Given the description of an element on the screen output the (x, y) to click on. 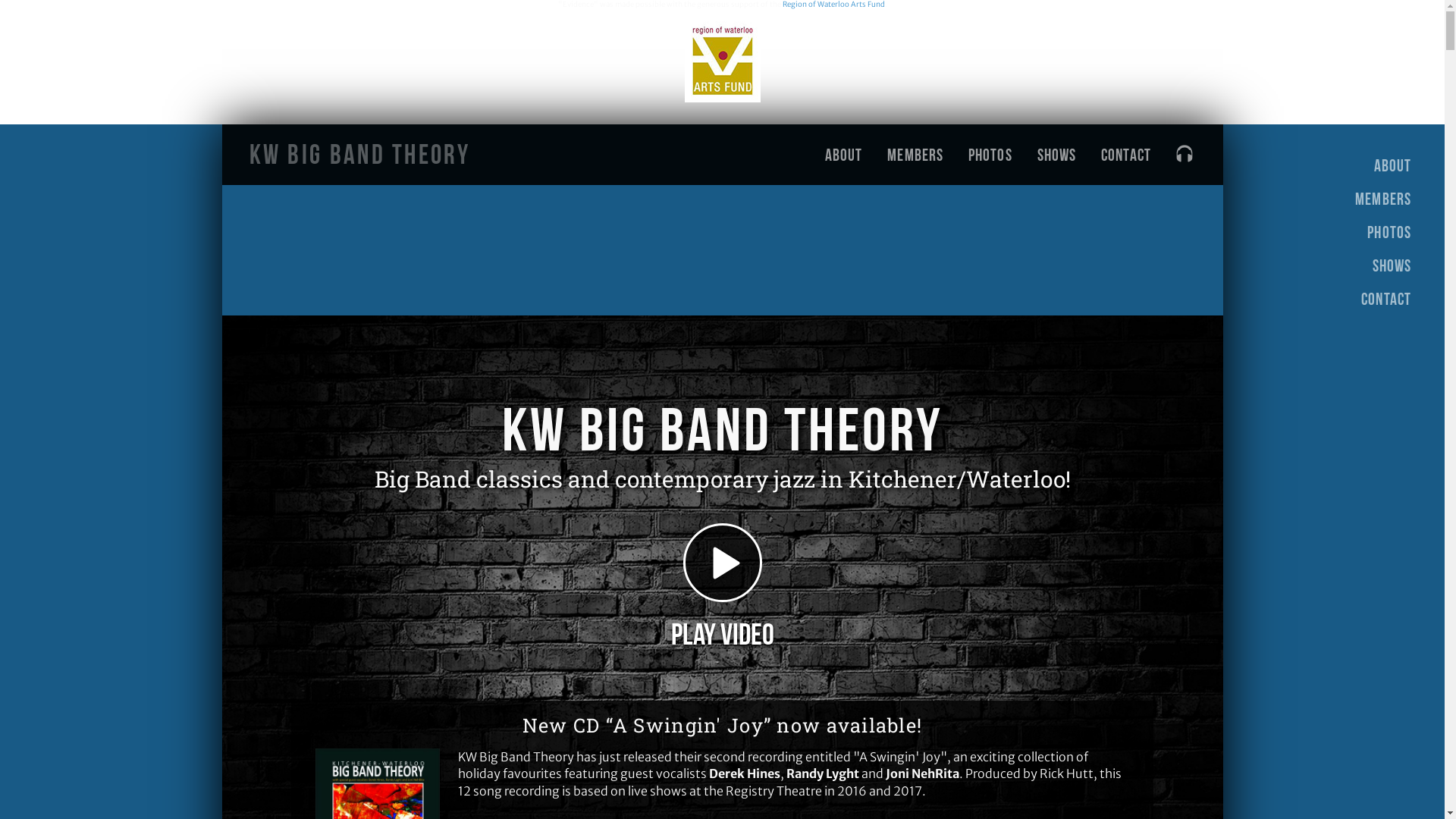
MEMBERS Element type: text (915, 154)
ABOUT Element type: text (1393, 165)
CONTACT Element type: text (1393, 298)
Region of Waterloo Arts Fund Element type: text (833, 4)
CONTACT Element type: text (1126, 154)
SHOWS Element type: text (1393, 265)
ABOUT Element type: text (843, 154)
PHOTOS Element type: text (1393, 231)
Play Video Element type: text (721, 589)
PHOTOS Element type: text (990, 154)
KW Big Band Theory Element type: text (358, 154)
SHOWS Element type: text (1056, 154)
MEMBERS Element type: text (1393, 198)
